Given the description of an element on the screen output the (x, y) to click on. 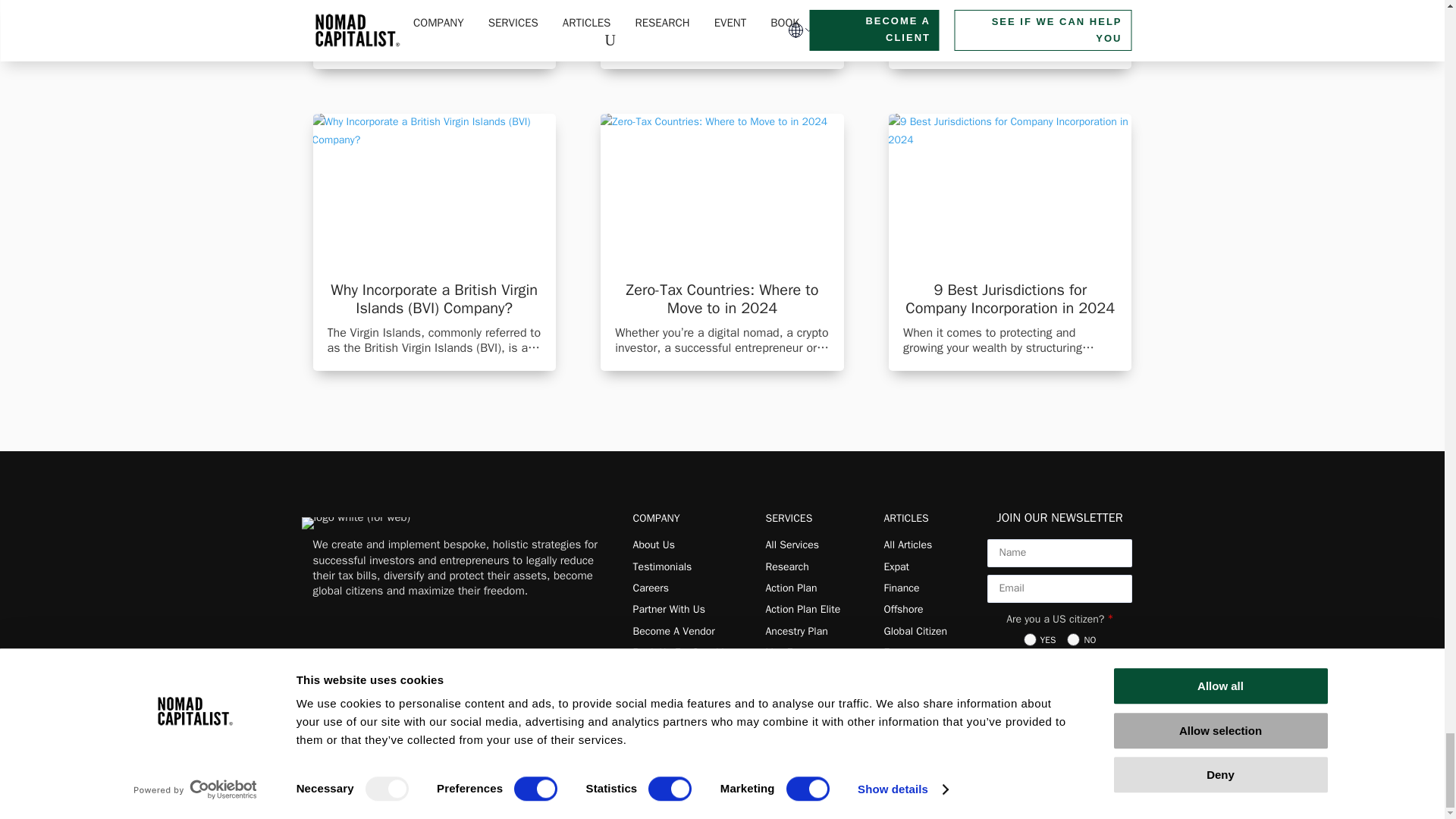
No (1073, 639)
Yes (1029, 639)
